Given the description of an element on the screen output the (x, y) to click on. 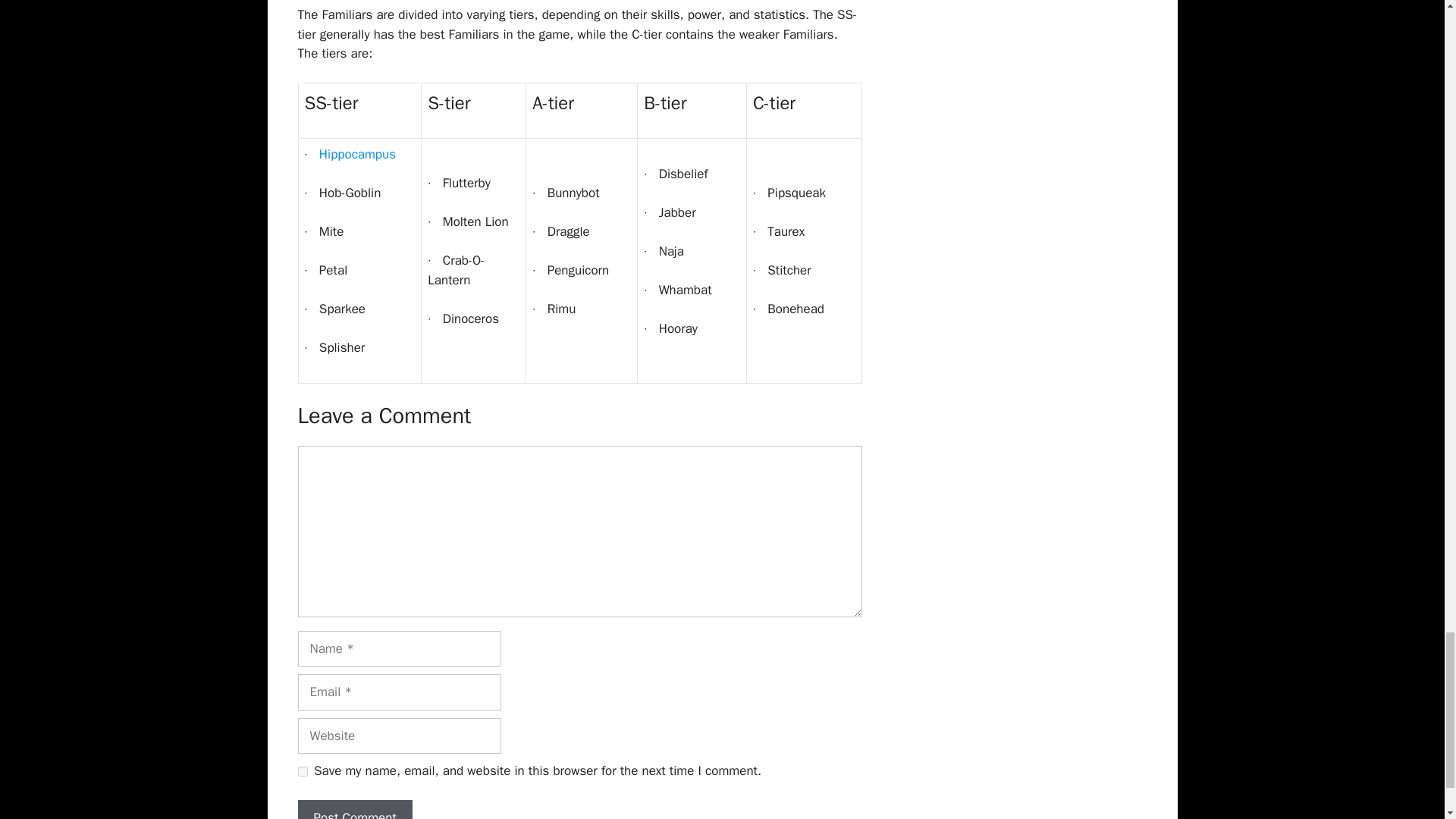
Post Comment (354, 809)
Post Comment (354, 809)
Hippocampus (357, 154)
yes (302, 771)
